Given the description of an element on the screen output the (x, y) to click on. 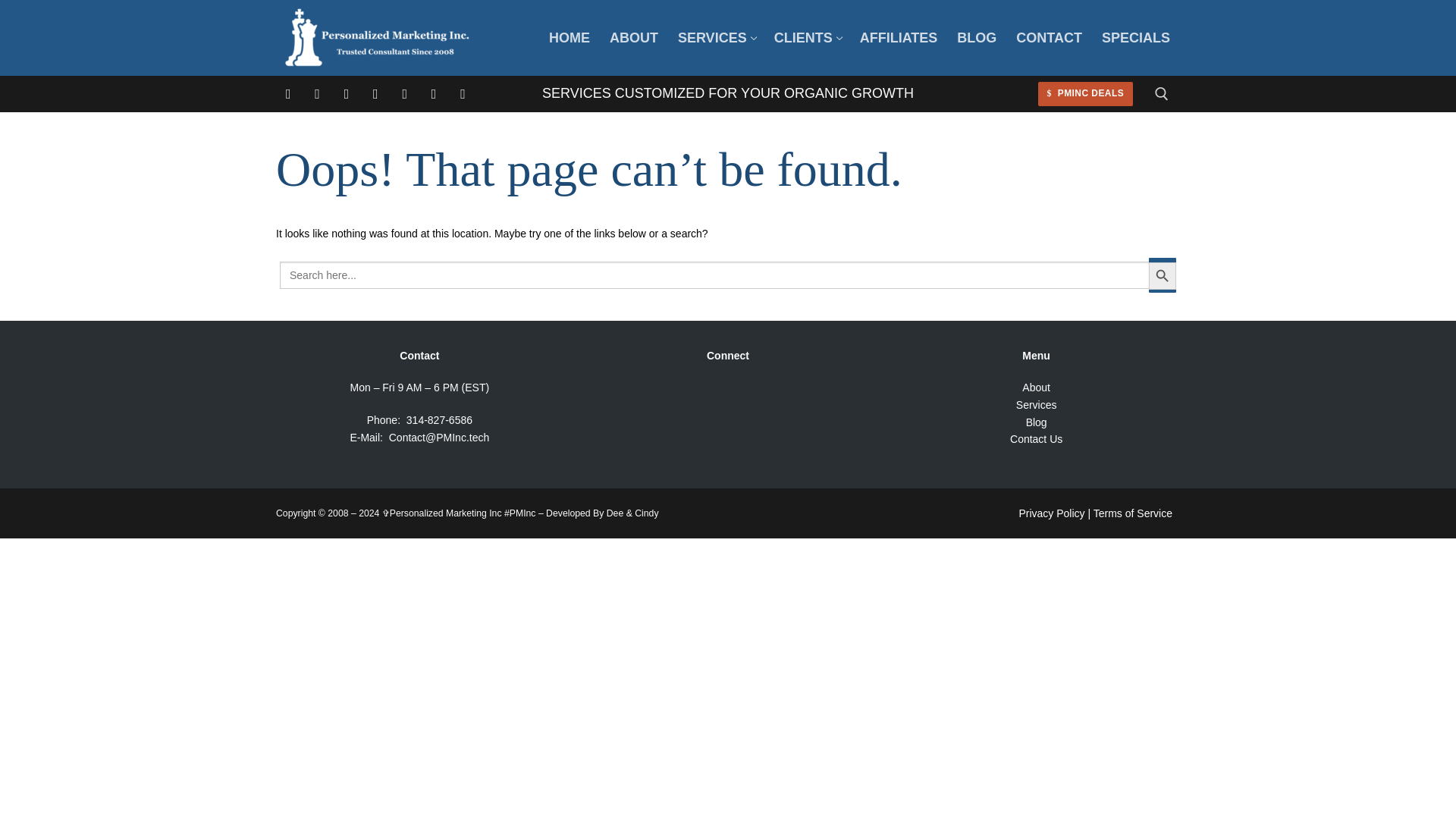
Youtube (404, 93)
SPECIALS (1135, 38)
Twitter (374, 93)
CONTACT (1049, 38)
Instagram (807, 38)
TikTok (317, 93)
PMINC DEALS (716, 38)
Facebook (346, 93)
